Given the description of an element on the screen output the (x, y) to click on. 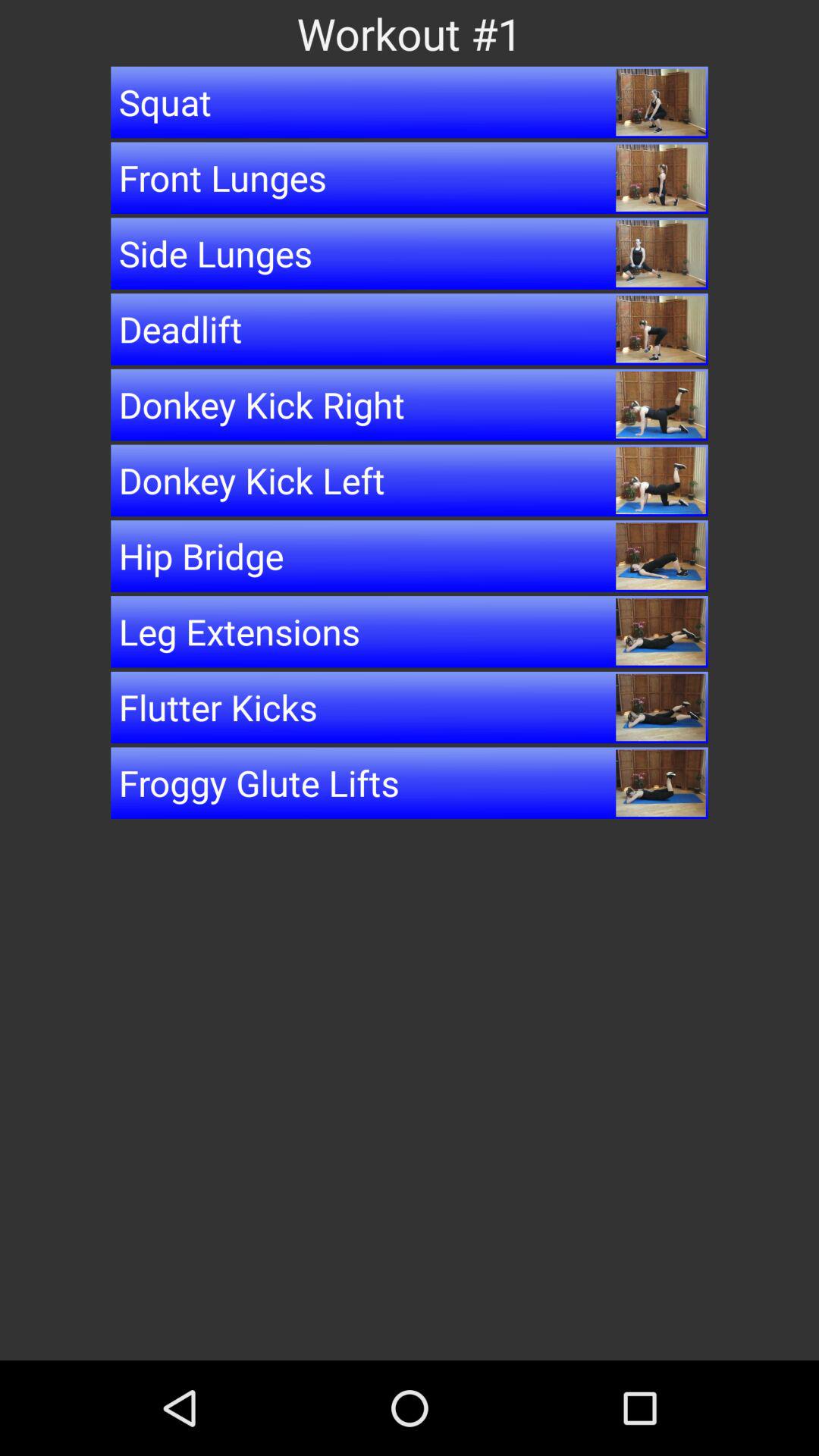
click the icon above the leg extensions item (409, 556)
